Given the description of an element on the screen output the (x, y) to click on. 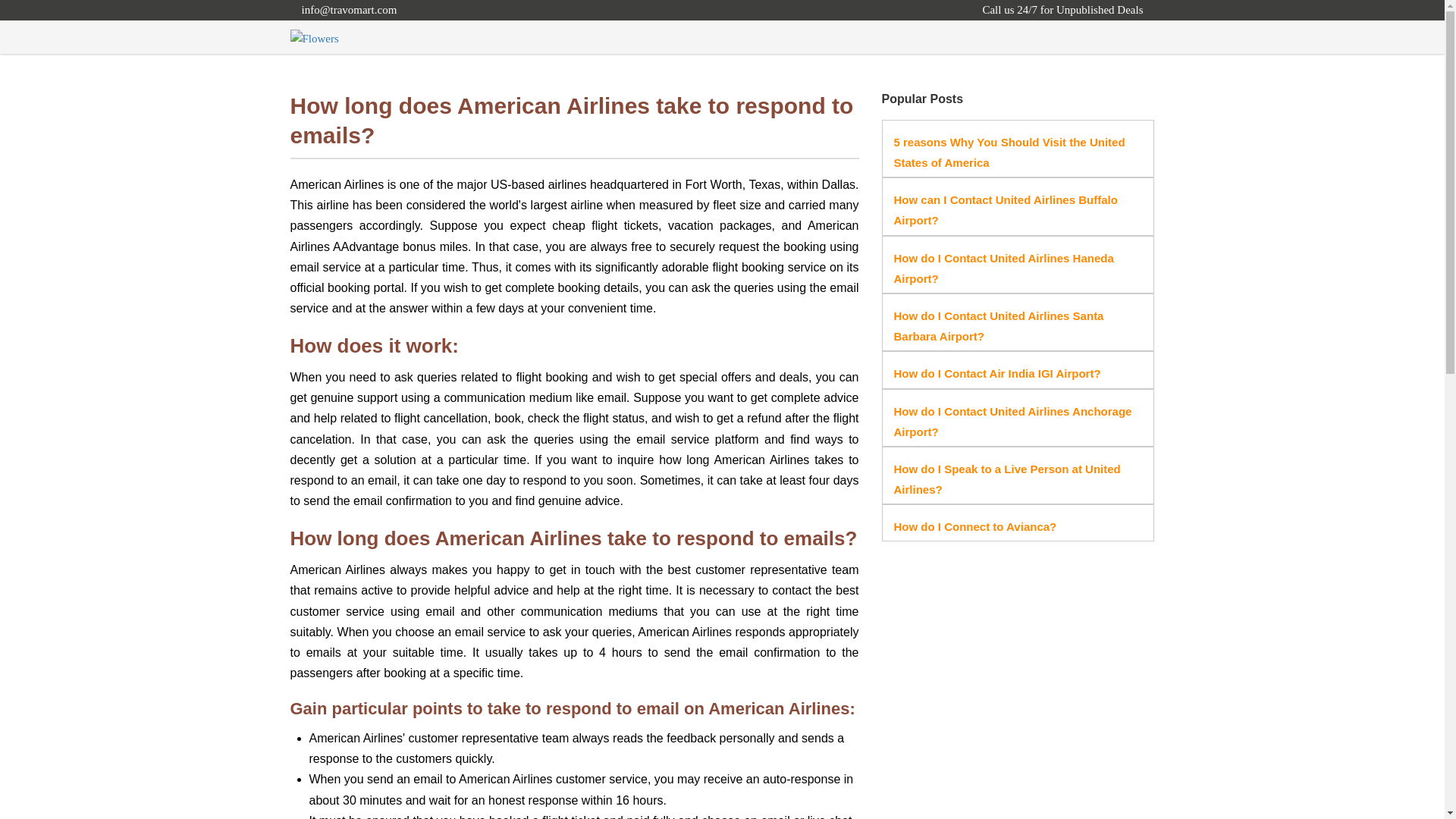
How do I Speak to a Live Person at United Airlines? (1006, 479)
How can I Contact United Airlines Buffalo Airport? (1004, 209)
5 reasons Why You Should Visit the United States of America (1008, 151)
How do I Contact United Airlines Santa Barbara Airport? (998, 326)
How do I Contact United Airlines Anchorage Airport? (1012, 421)
How do I Contact Air India IGI Airport? (996, 373)
How do I Connect to Avianca? (975, 526)
How do I Contact United Airlines Haneda Airport? (1003, 268)
